Given the description of an element on the screen output the (x, y) to click on. 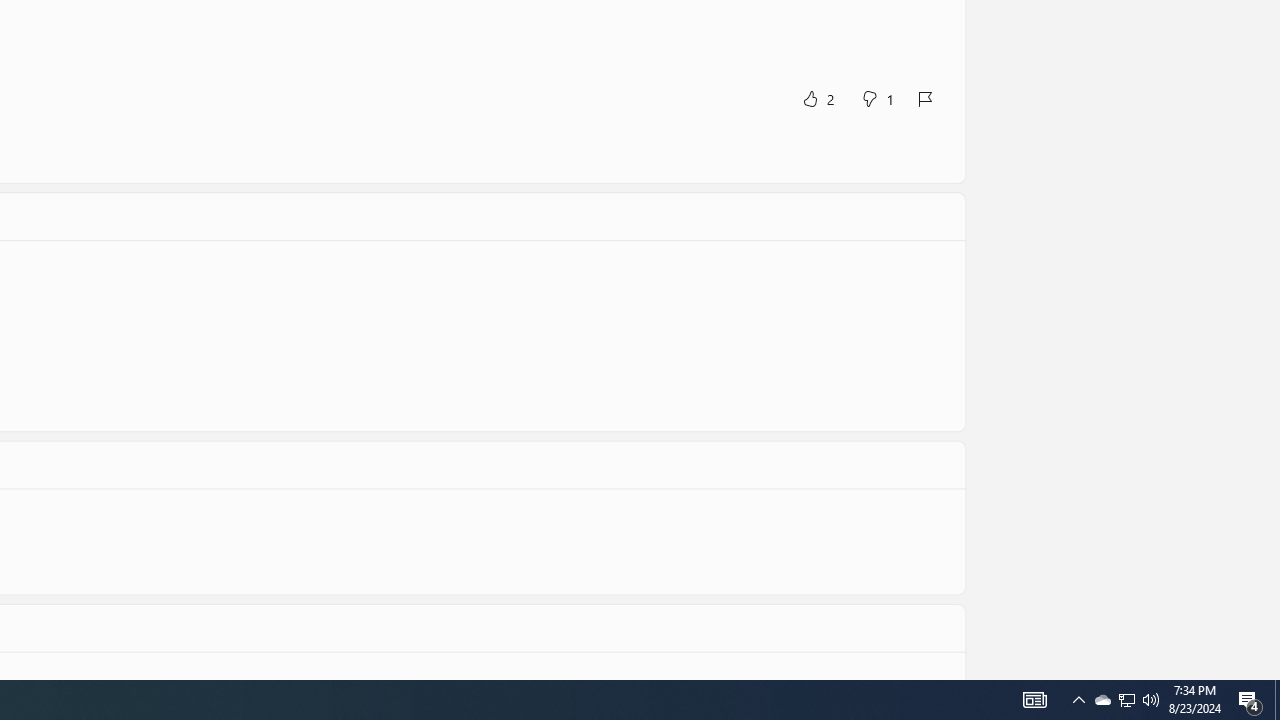
Yes, this was helpful. 2 votes. (816, 97)
Report review (924, 98)
No, this was not helpful. 1 votes. (875, 97)
